Given the description of an element on the screen output the (x, y) to click on. 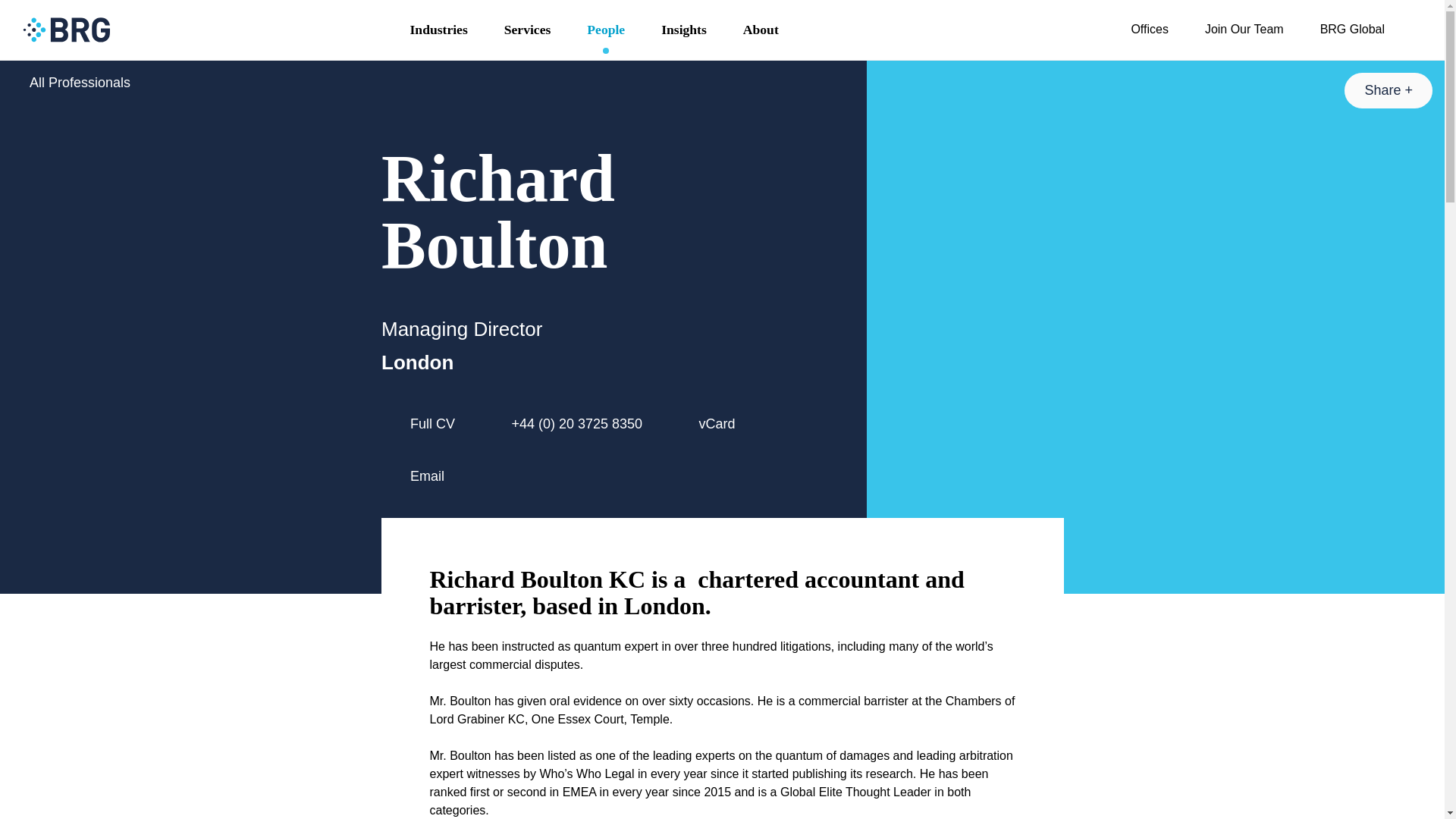
Full CV (432, 424)
Join Our Team (1243, 29)
Services (527, 29)
People (606, 29)
London (416, 362)
Industries (437, 29)
BRG Global (1352, 29)
All Professionals (71, 82)
vCard (716, 424)
About (760, 29)
Share (1387, 90)
Insights (684, 29)
Offices (1149, 29)
Email (427, 476)
